Given the description of an element on the screen output the (x, y) to click on. 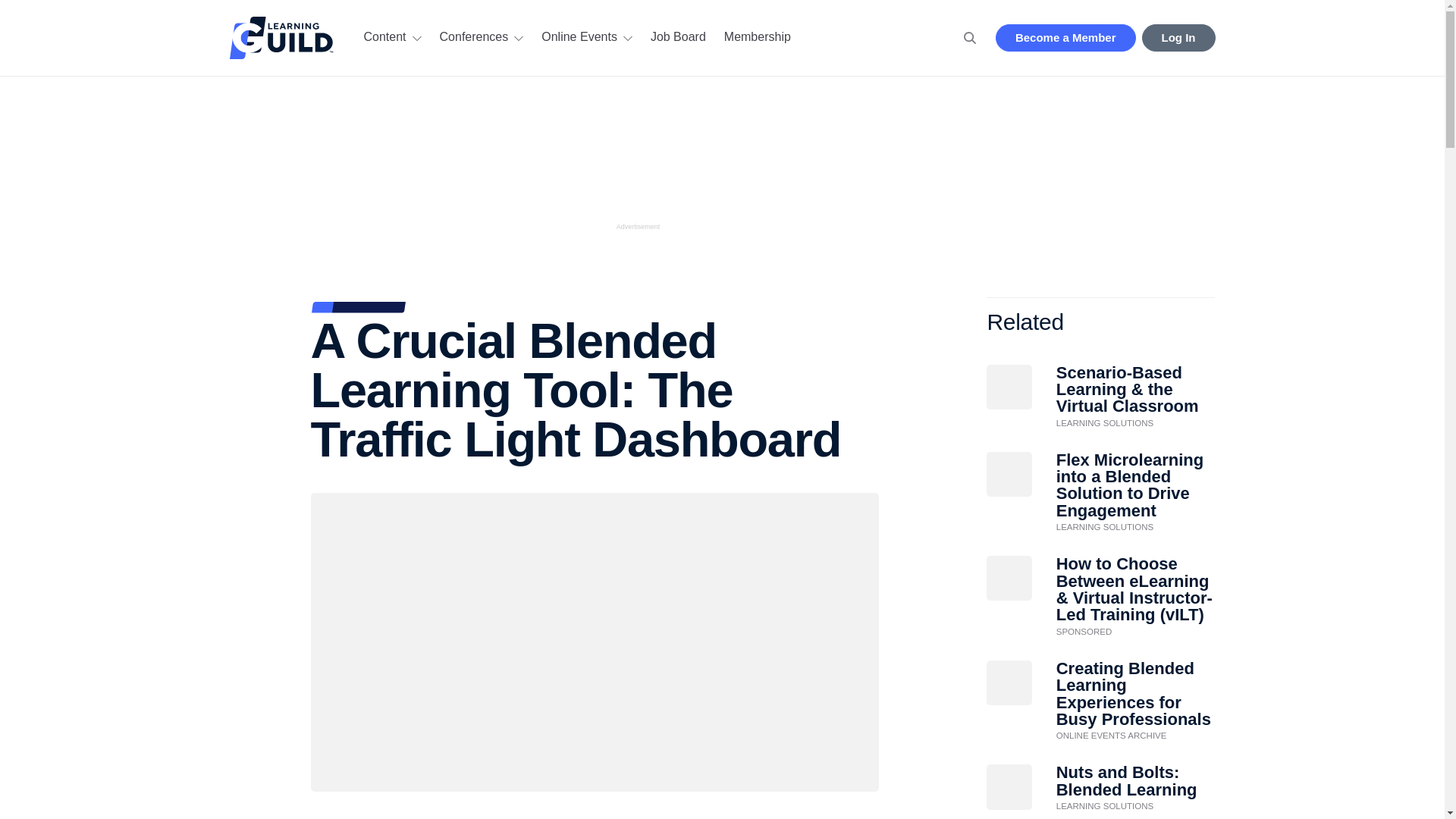
Log In (1178, 37)
Membership (753, 38)
Online Events (584, 38)
Conferences (478, 38)
Job Board (675, 38)
Become a Member (1065, 37)
Content (390, 38)
